Given the description of an element on the screen output the (x, y) to click on. 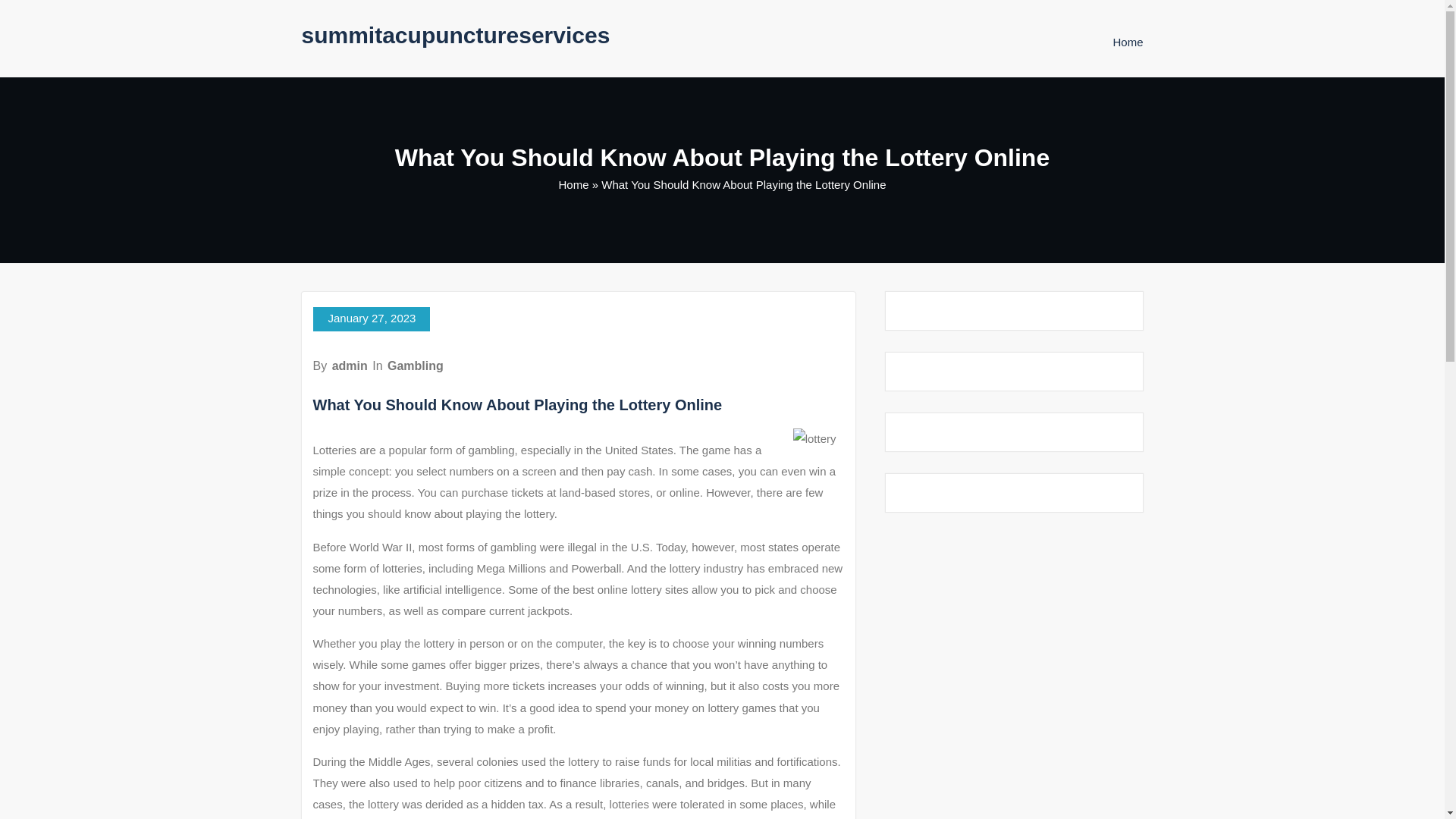
Gambling (415, 365)
admin (349, 365)
Home (1127, 41)
Home (1127, 41)
summitacupunctureservices (455, 34)
January 27, 2023 (371, 319)
Home (574, 184)
